Given the description of an element on the screen output the (x, y) to click on. 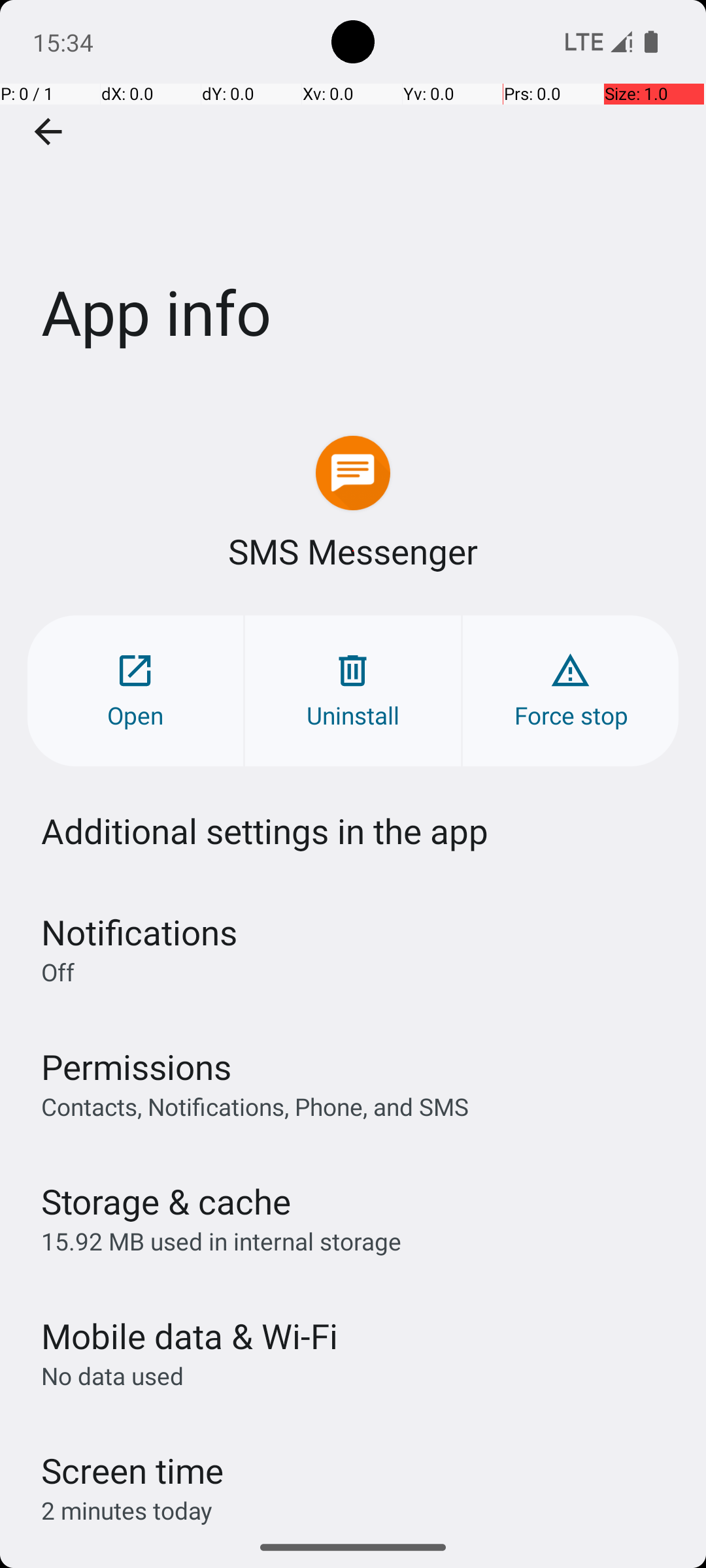
App info Element type: android.widget.FrameLayout (353, 195)
Open Element type: android.widget.Button (135, 690)
Uninstall Element type: android.widget.Button (352, 690)
Force stop Element type: android.widget.Button (570, 690)
Additional settings in the app Element type: android.widget.TextView (264, 830)
Permissions Element type: android.widget.TextView (136, 1066)
Contacts, Notifications, Phone, and SMS Element type: android.widget.TextView (254, 1106)
Storage & cache Element type: android.widget.TextView (166, 1200)
15.92 MB used in internal storage Element type: android.widget.TextView (221, 1240)
Mobile data & Wi‑Fi Element type: android.widget.TextView (189, 1335)
No data used Element type: android.widget.TextView (112, 1375)
Screen time Element type: android.widget.TextView (132, 1470)
2 minutes today Element type: android.widget.TextView (127, 1509)
